Given the description of an element on the screen output the (x, y) to click on. 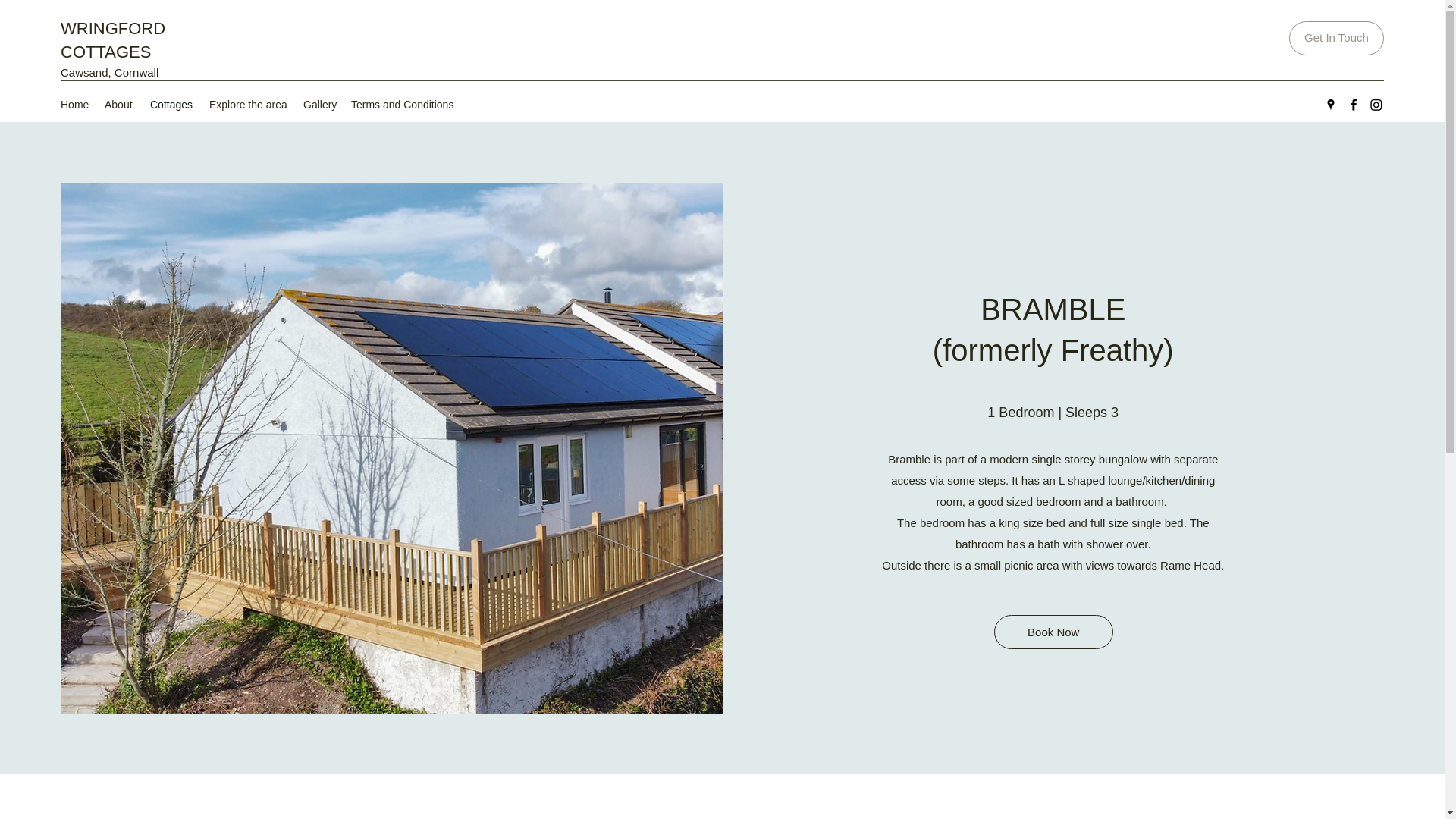
About (119, 104)
Book Now (1053, 632)
Cottages (172, 104)
Explore the area (248, 104)
Terms and Conditions (403, 104)
Gallery (319, 104)
Home (74, 104)
Get In Touch (1336, 38)
